Given the description of an element on the screen output the (x, y) to click on. 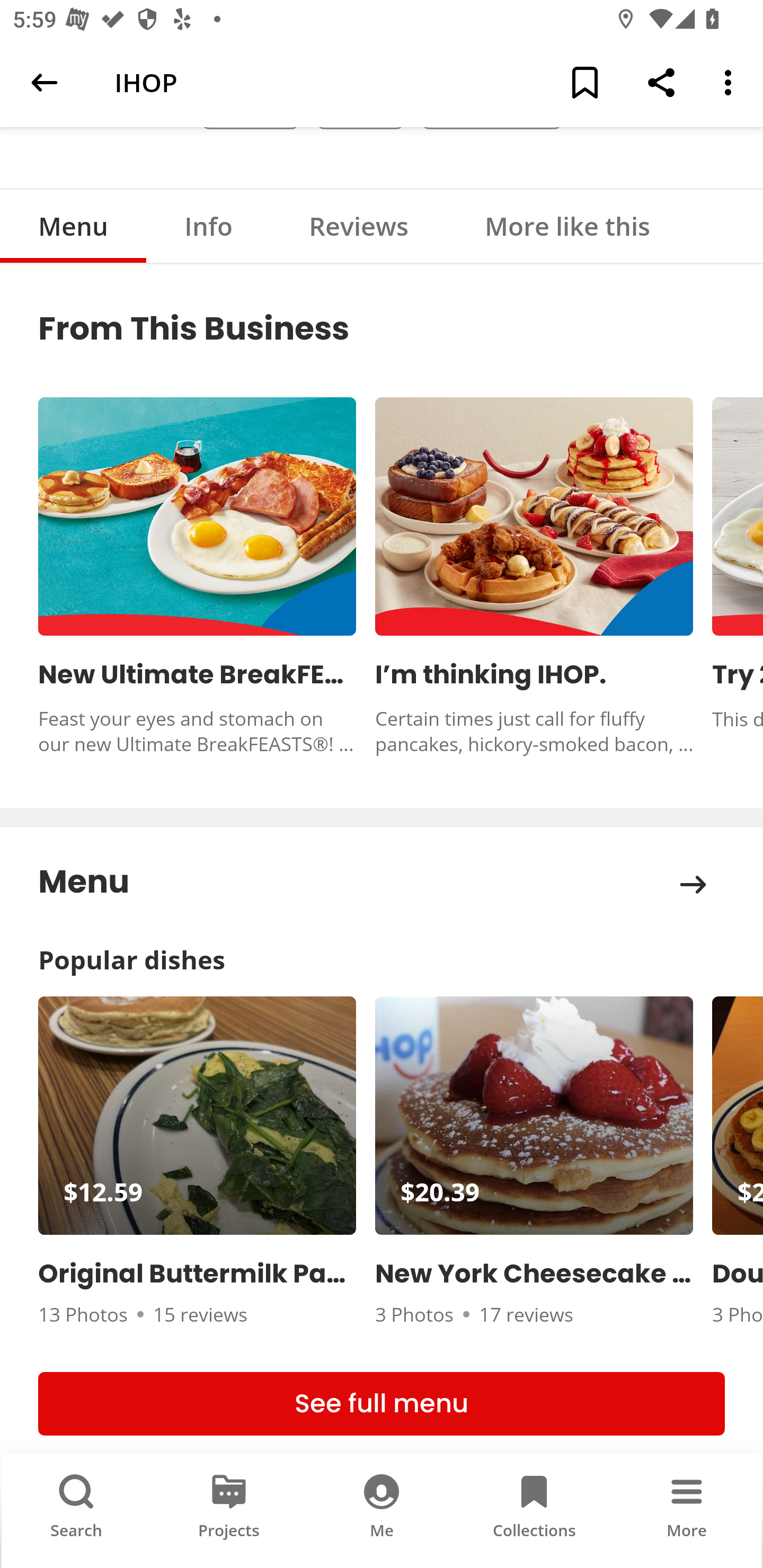
See full menu (381, 1403)
